Given the description of an element on the screen output the (x, y) to click on. 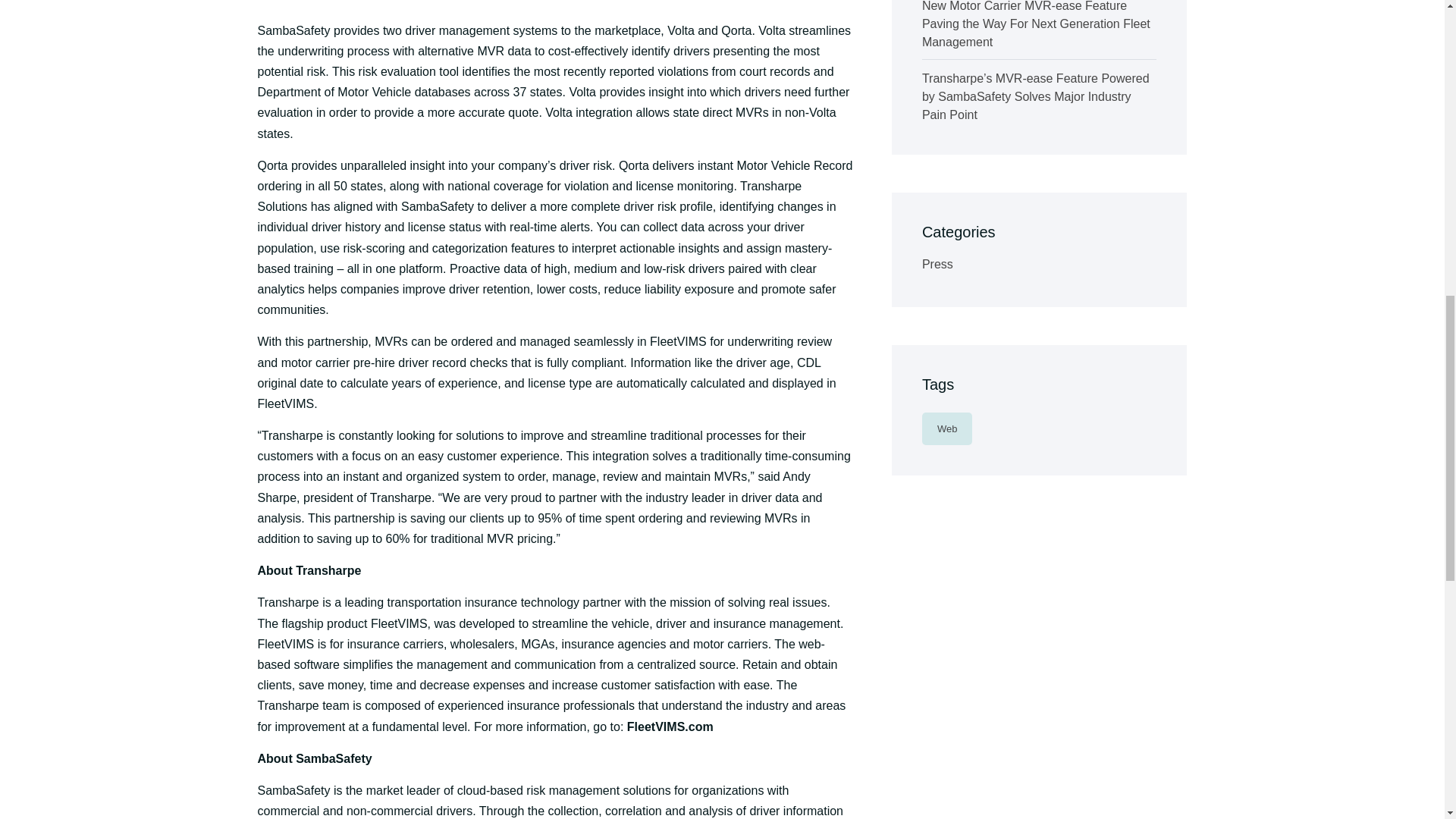
FleetVIMS.com (670, 726)
Web (946, 428)
Press (937, 264)
